Given the description of an element on the screen output the (x, y) to click on. 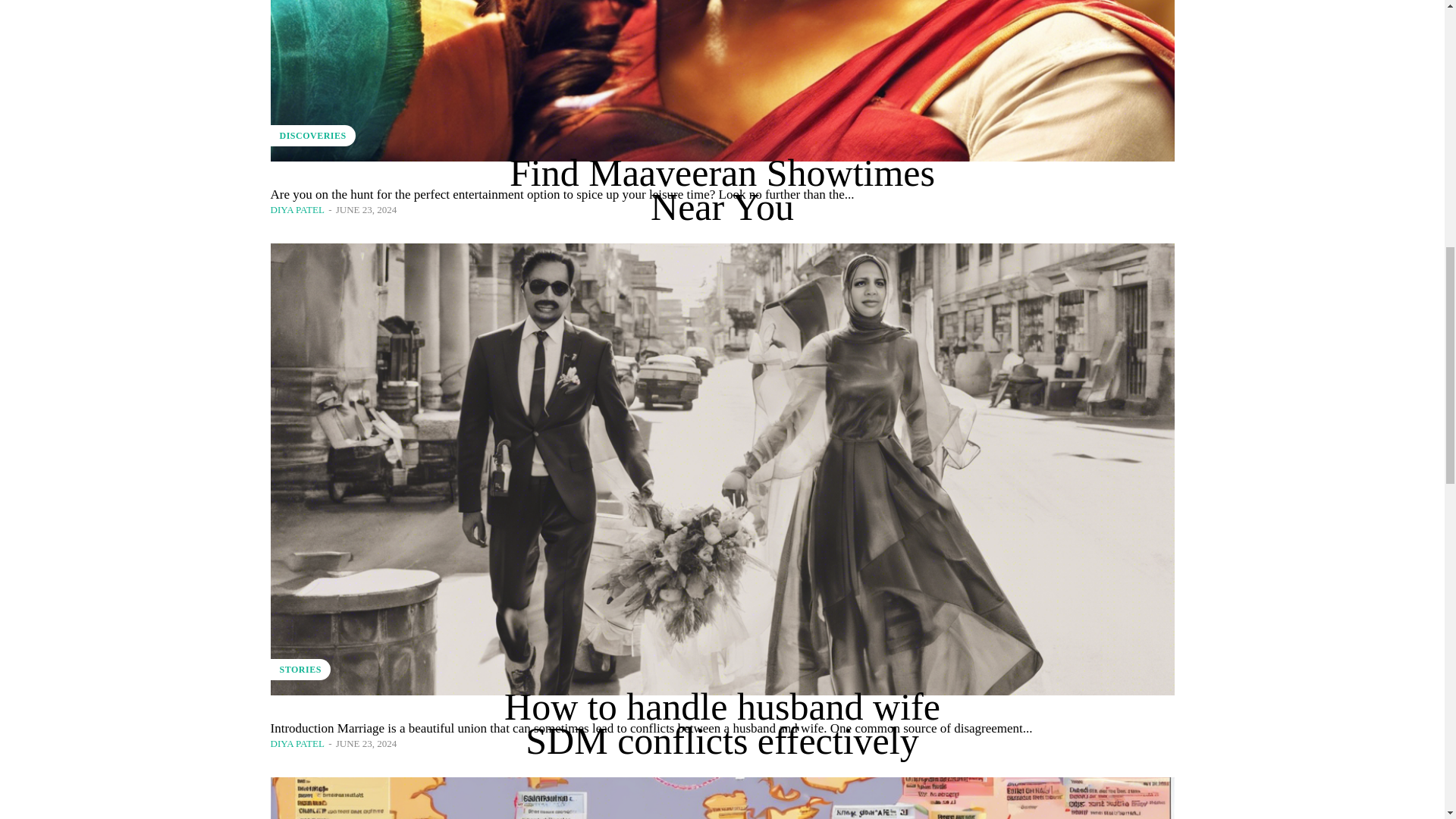
Find Maaveeran Showtimes Near You (721, 189)
How to handle husband wife SDM conflicts effectively (721, 723)
2024 Central Government Holiday List Pdf Guide (721, 798)
